Given the description of an element on the screen output the (x, y) to click on. 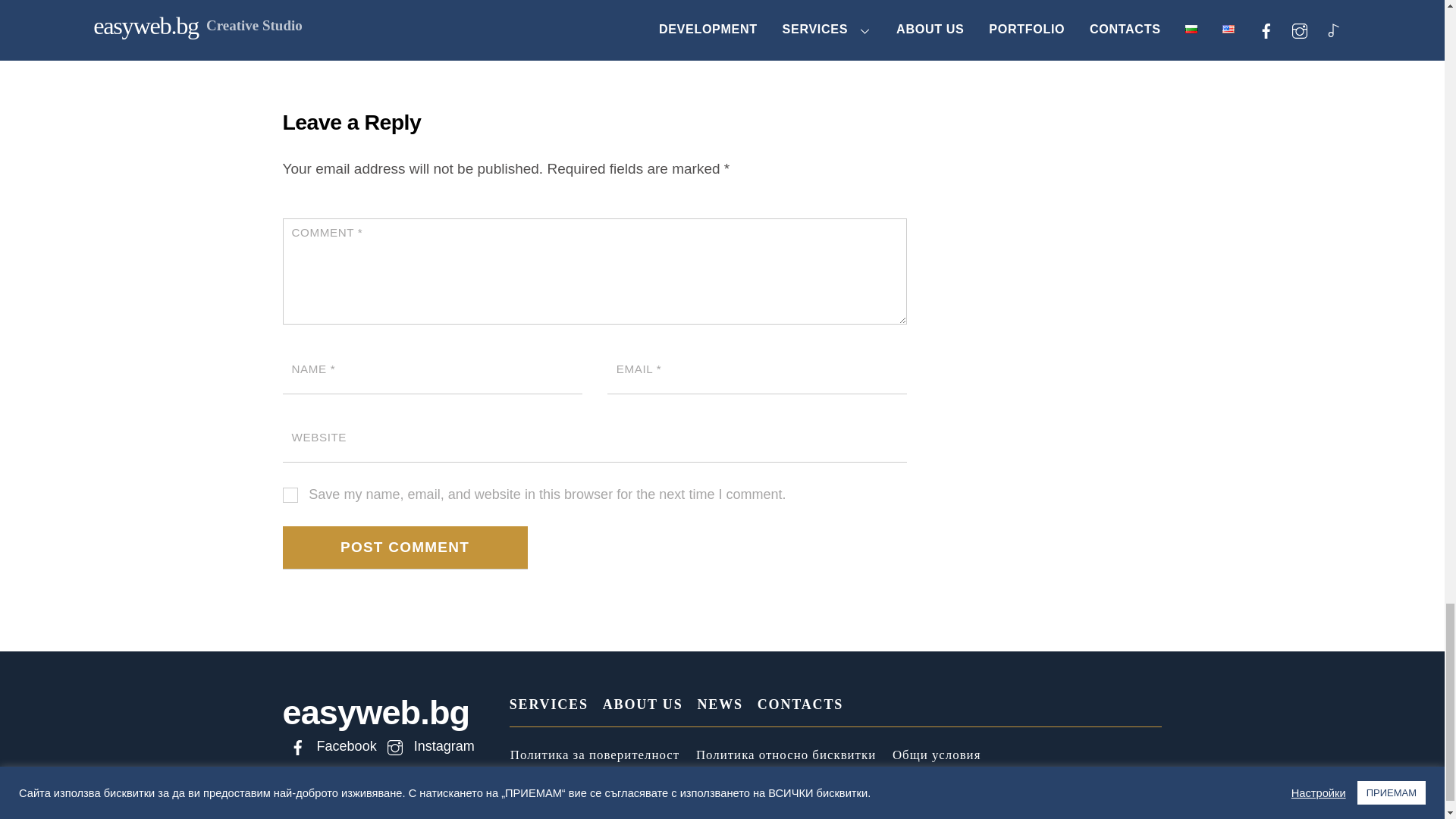
REPLY (877, 2)
easyweb.bg (375, 712)
Post Comment (404, 547)
Post Comment (404, 547)
yes (289, 494)
